Given the description of an element on the screen output the (x, y) to click on. 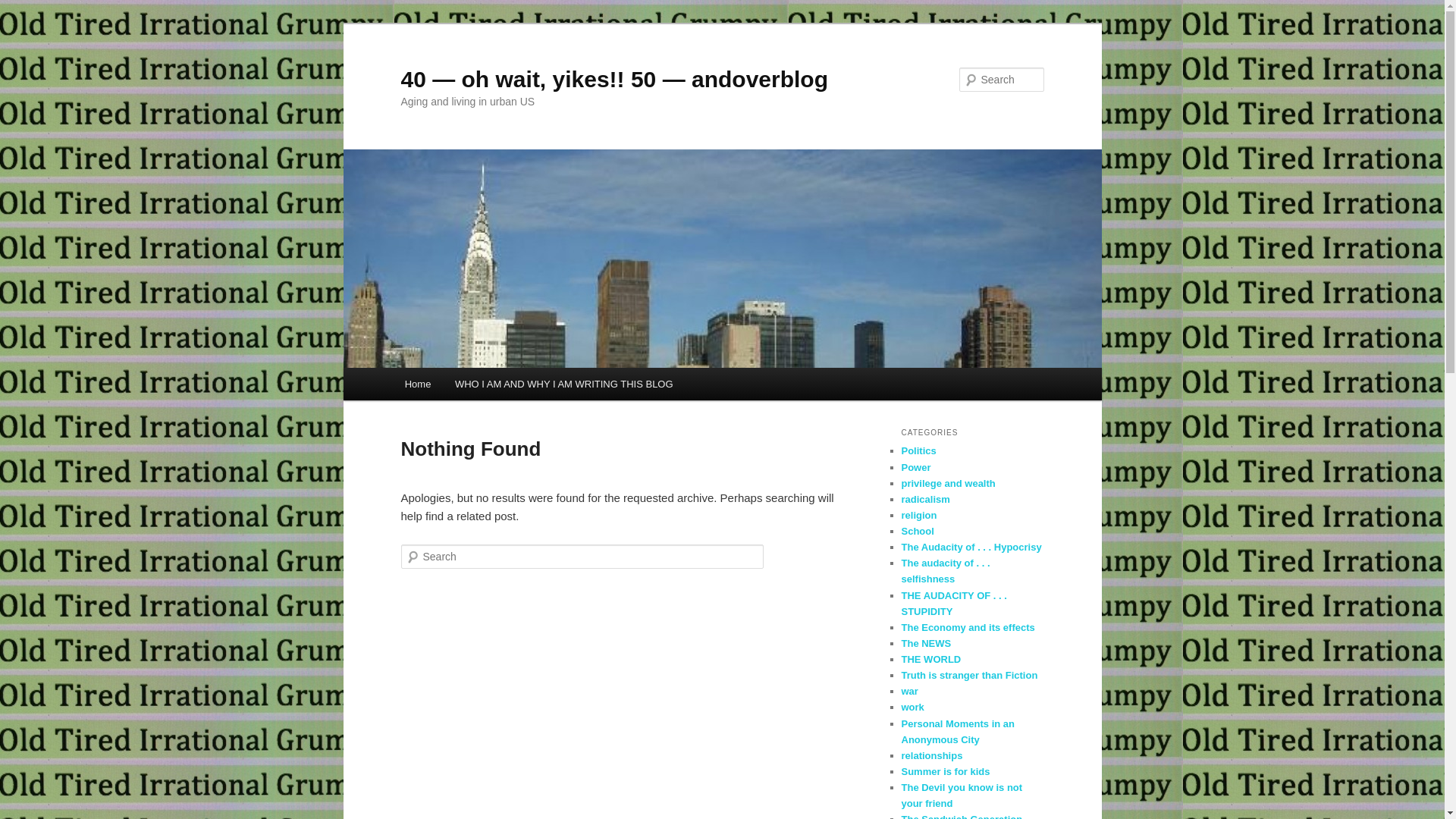
relationships Element type: text (931, 755)
Power Element type: text (915, 467)
privilege and wealth Element type: text (947, 483)
war Element type: text (908, 690)
Skip to primary content Element type: text (414, 367)
The NEWS Element type: text (925, 643)
Home Element type: text (417, 383)
Truth is stranger than Fiction Element type: text (968, 674)
THE AUDACITY OF . . . STUPIDITY Element type: text (953, 603)
work Element type: text (911, 706)
religion Element type: text (918, 514)
School Element type: text (916, 530)
The Economy and its effects Element type: text (967, 627)
The Devil you know is not your friend Element type: text (961, 795)
The audacity of . . . selfishness Element type: text (944, 570)
Search Element type: text (24, 8)
THE WORLD Element type: text (930, 659)
The Audacity of . . . Hypocrisy Element type: text (970, 546)
radicalism Element type: text (924, 499)
WHO I AM AND WHY I AM WRITING THIS BLOG Element type: text (563, 383)
Politics Element type: text (917, 450)
Personal Moments in an Anonymous City Element type: text (957, 731)
Summer is for kids Element type: text (944, 771)
